Given the description of an element on the screen output the (x, y) to click on. 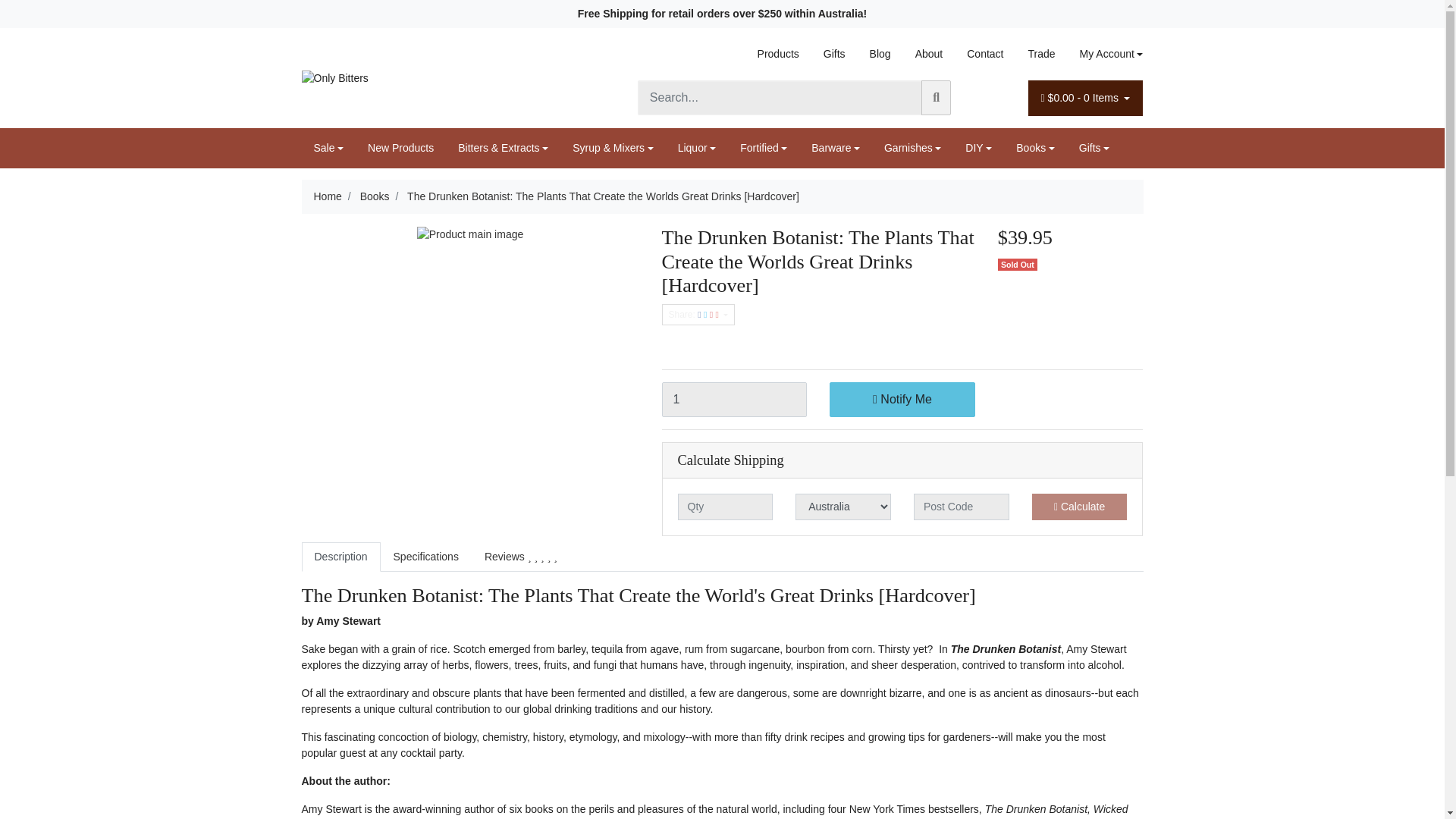
Calculate (1079, 506)
Sale (328, 148)
Contact (984, 53)
About (928, 53)
Gifts (833, 53)
Fortified (763, 148)
My Account (1104, 53)
Only Bitters (334, 77)
Products (777, 53)
Trade (1040, 53)
